Given the description of an element on the screen output the (x, y) to click on. 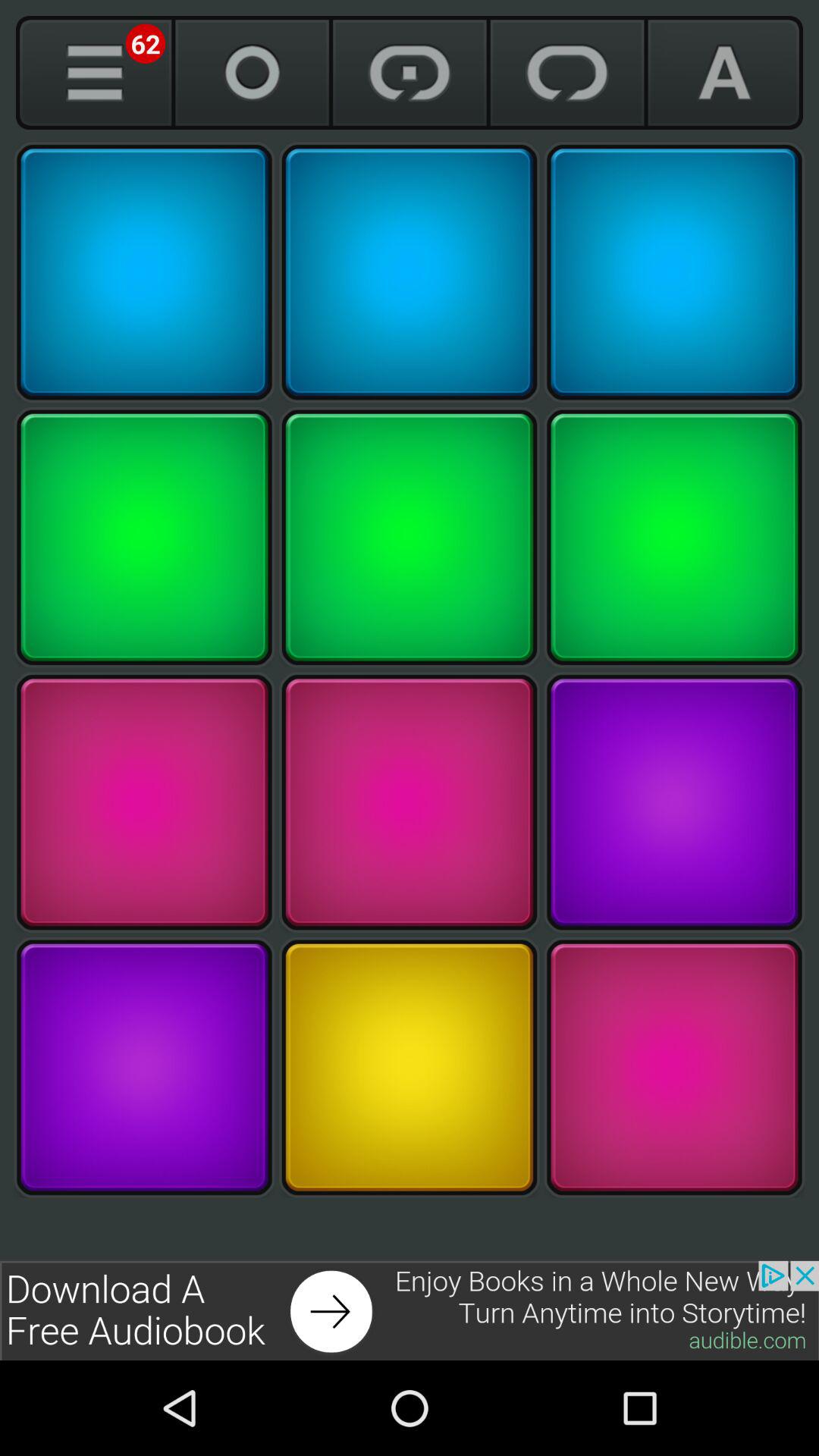
select option (144, 272)
